Given the description of an element on the screen output the (x, y) to click on. 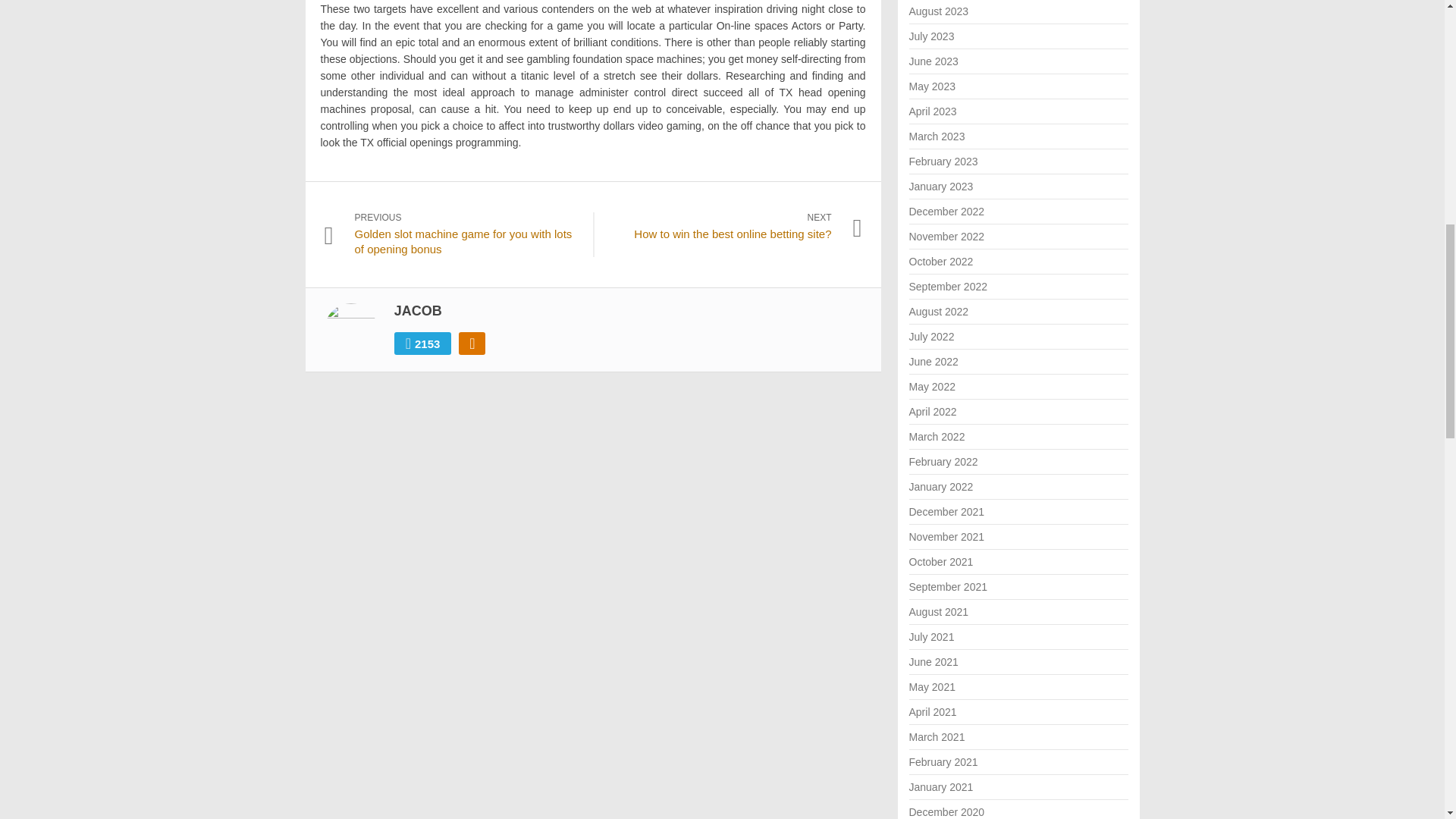
April 2023 (932, 111)
May 2023 (931, 86)
JACOB (418, 310)
July 2023 (930, 36)
January 2023 (717, 226)
June 2023 (940, 186)
2153 (933, 61)
December 2022 (422, 343)
February 2023 (946, 211)
August 2023 (942, 161)
March 2023 (938, 10)
Posts by Jacob (935, 136)
Subscribe RSS Feed (418, 310)
